Given the description of an element on the screen output the (x, y) to click on. 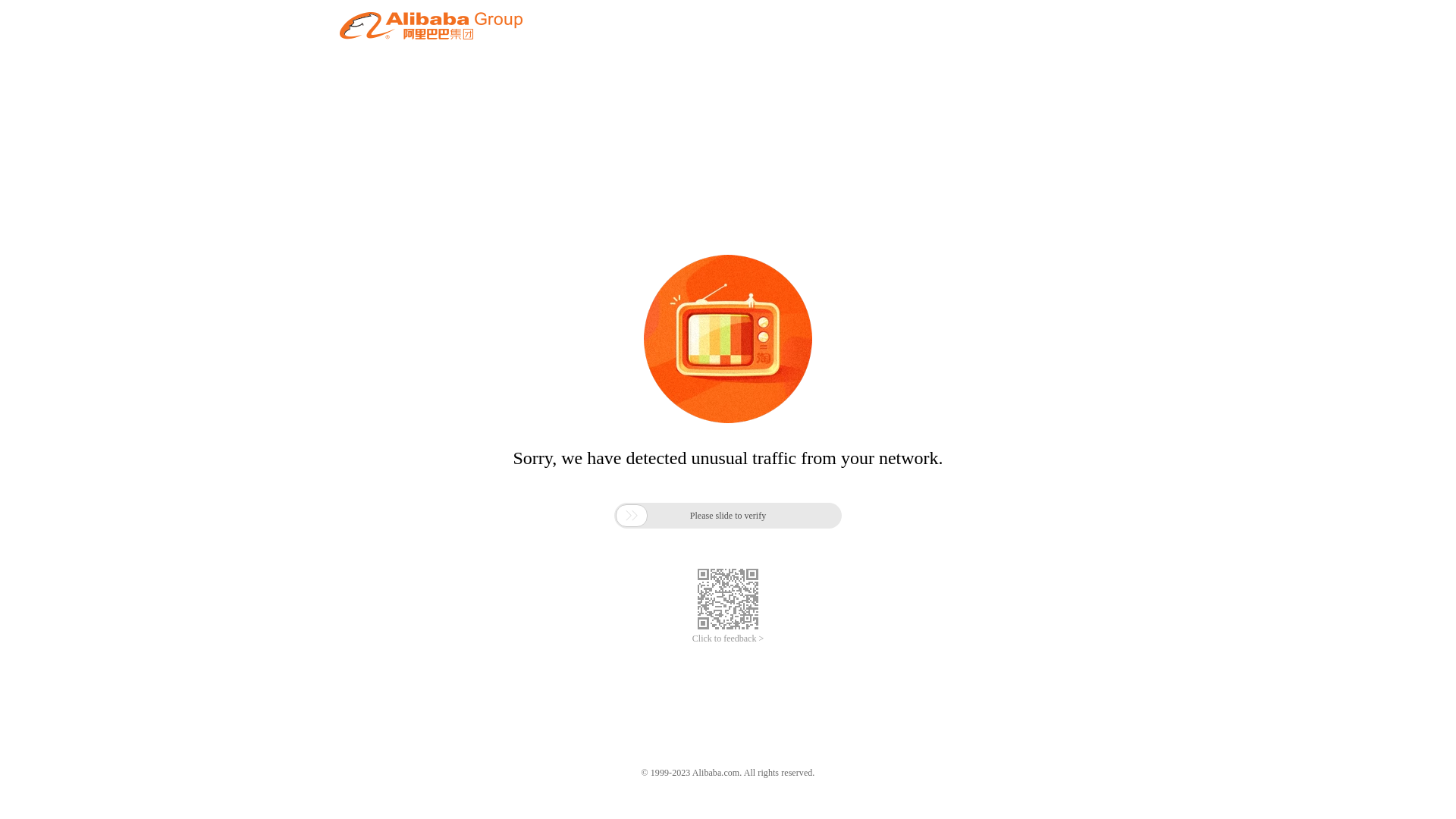
Click to feedback > Element type: text (727, 638)
